Given the description of an element on the screen output the (x, y) to click on. 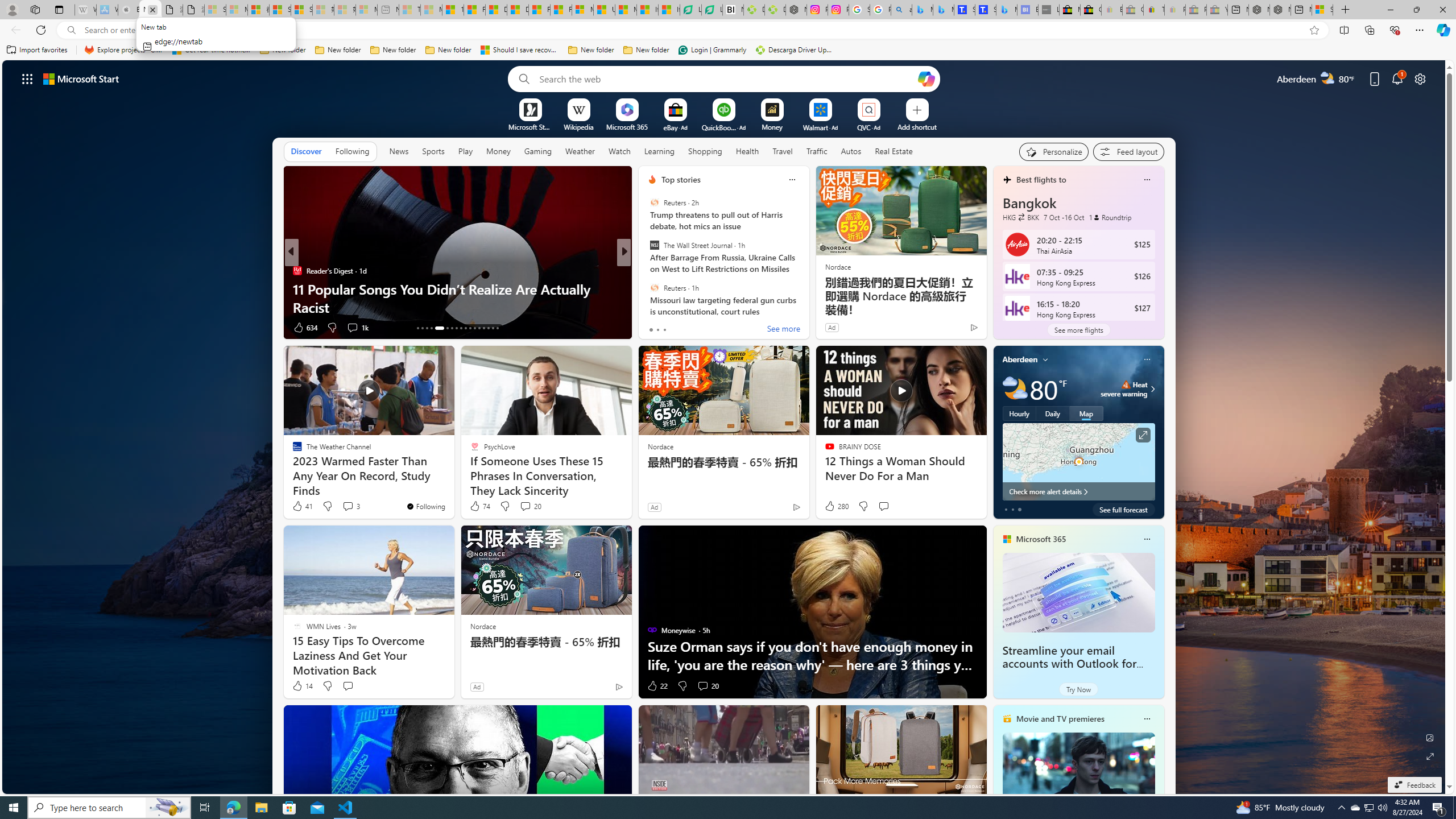
AutomationID: tab-25 (478, 328)
AutomationID: tab-44 (492, 328)
Thai AirAsia (FD 505) Thai AirAsia 20:20 - 22:15 $125 (1077, 244)
Microsoft Bing Travel - Shangri-La Hotel Bangkok (1006, 9)
See full forecast (1123, 509)
22 Like (657, 685)
Food and Drink - MSN (474, 9)
Streamline your email accounts with Outlook for Windows (1069, 664)
AutomationID: tab-18 (446, 328)
Page settings (1420, 78)
